Given the description of an element on the screen output the (x, y) to click on. 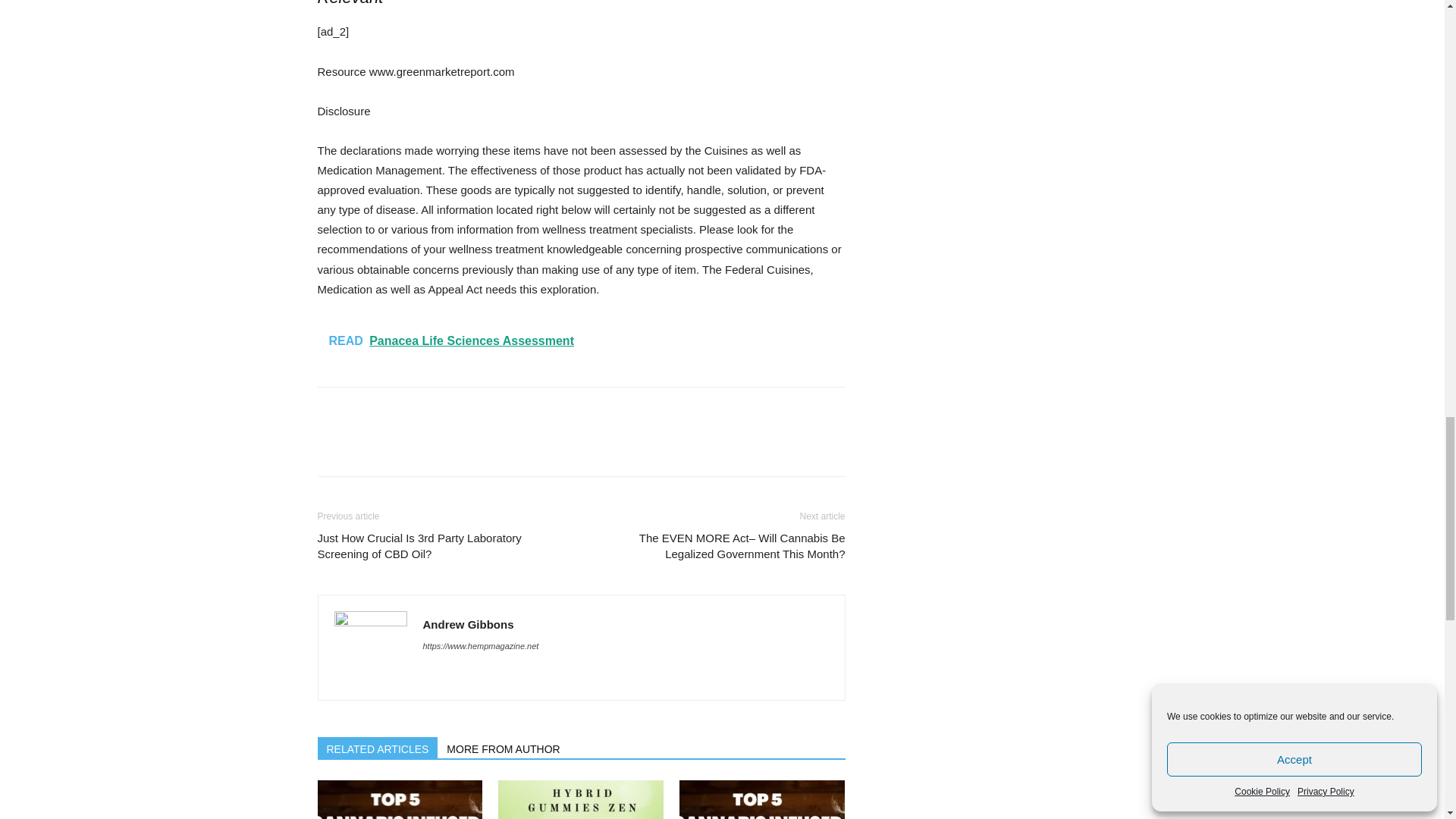
High 5 Hashish-Infused Drinks (761, 799)
High 5 Hashish-Infused Drinks (399, 799)
